Given the description of an element on the screen output the (x, y) to click on. 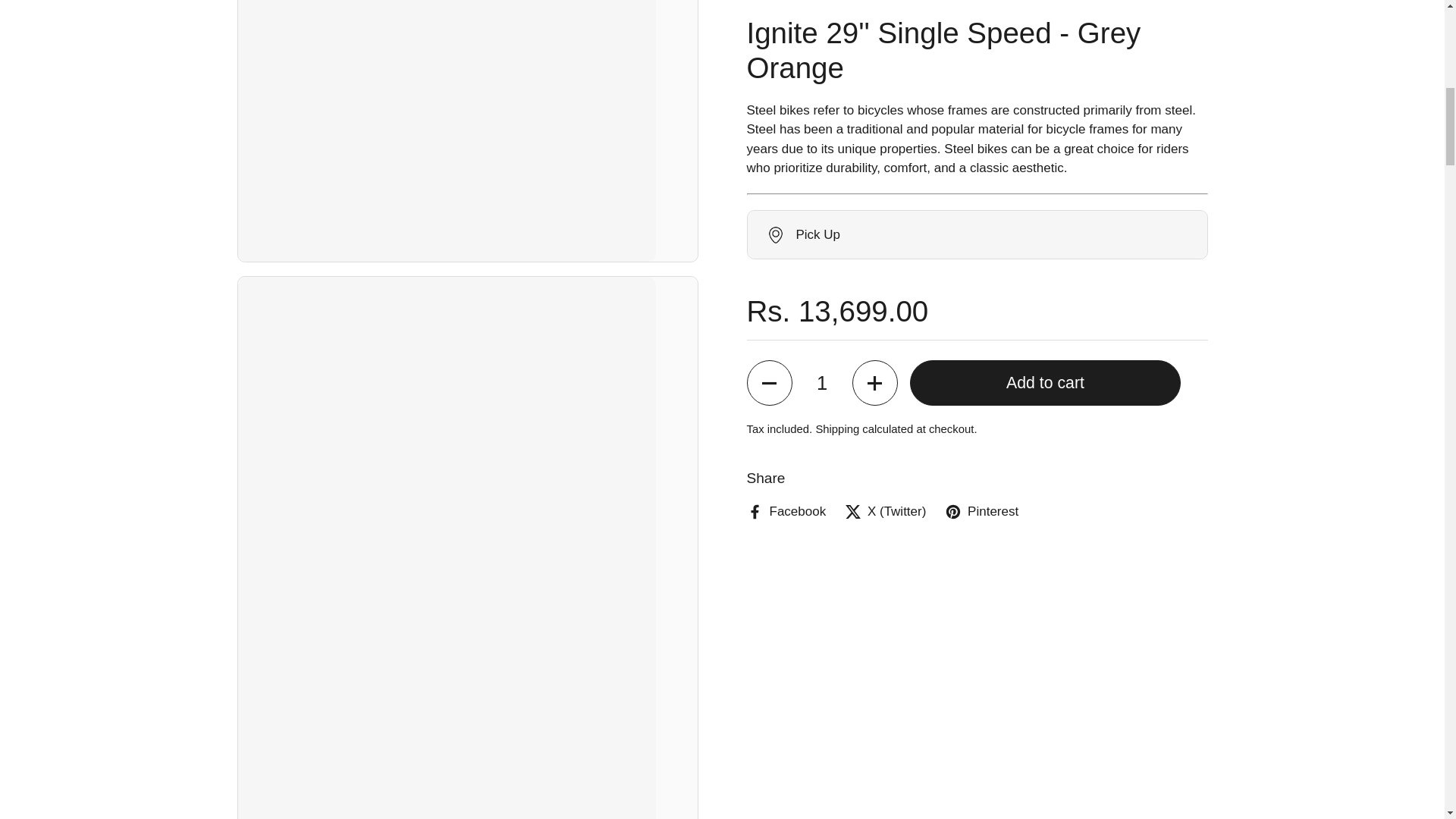
1 (821, 74)
Share on X (885, 203)
Share on facebook (785, 203)
